Given the description of an element on the screen output the (x, y) to click on. 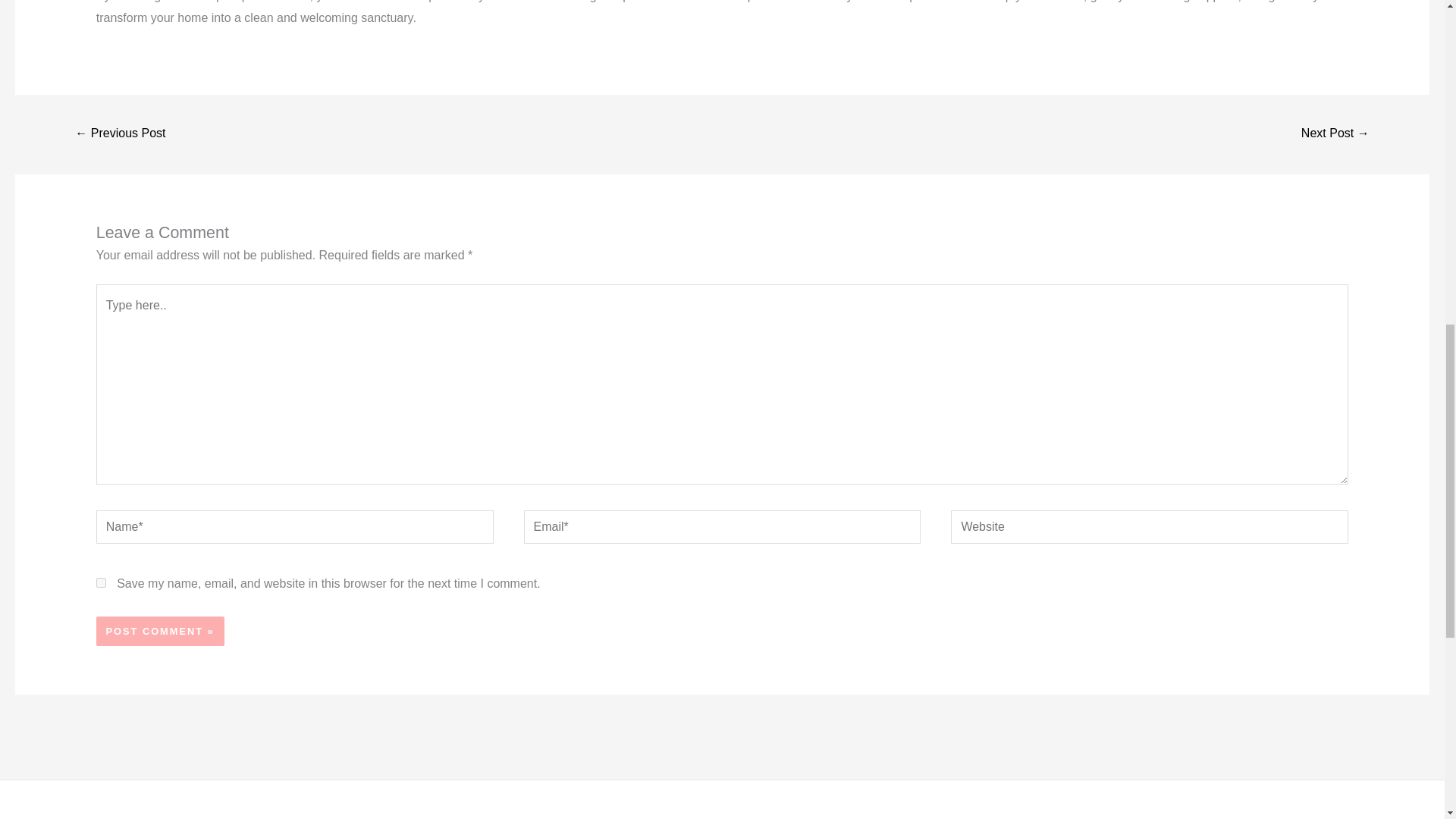
Effortless Cleaning Tips for a Spotless Home (1334, 134)
yes (101, 583)
Stick Vacuum Showdown: The Top-Rated Models Compared (119, 134)
